Given the description of an element on the screen output the (x, y) to click on. 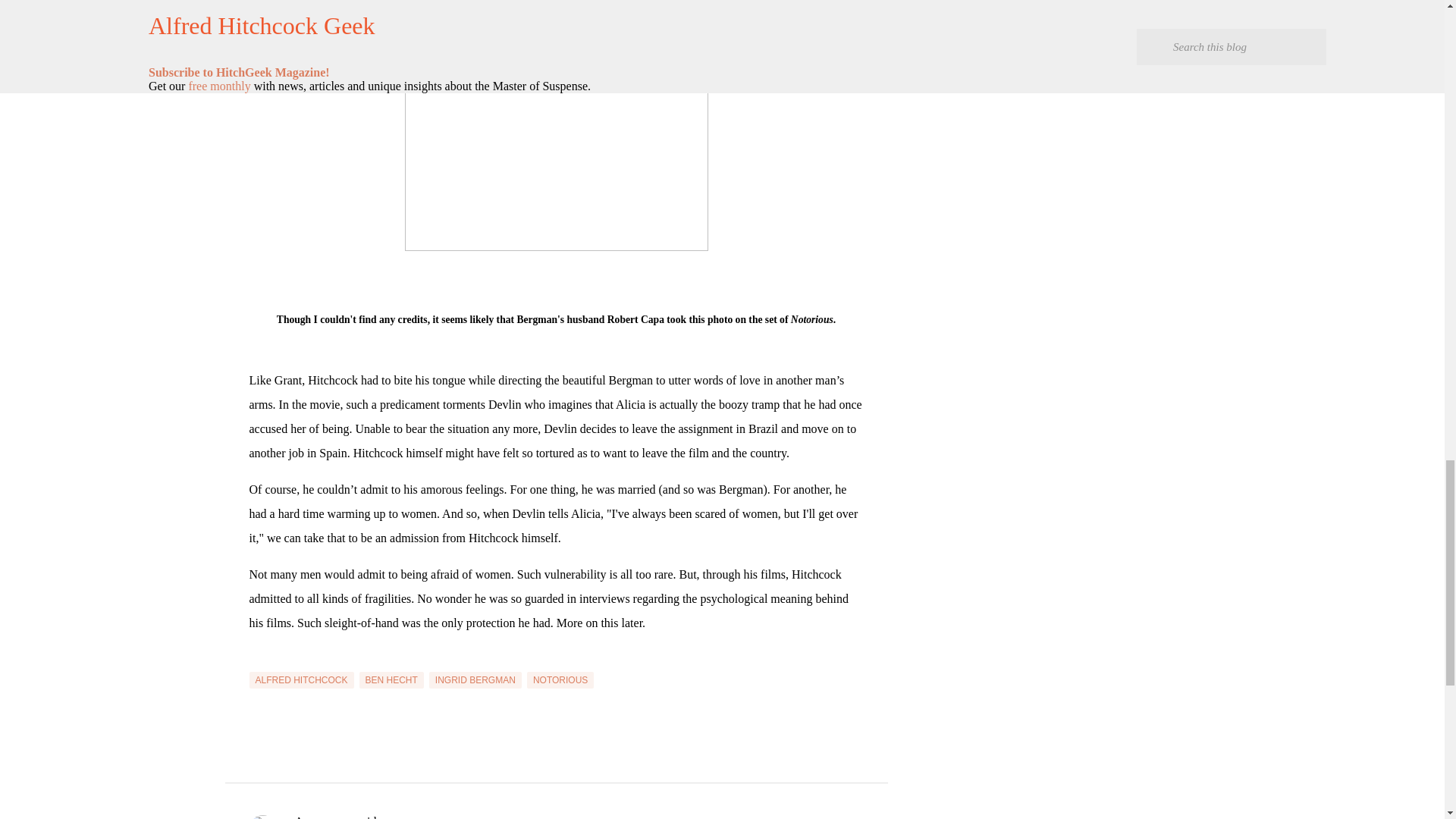
Email Post (257, 662)
ALFRED HITCHCOCK (300, 679)
INGRID BERGMAN (475, 679)
BEN HECHT (391, 679)
NOTORIOUS (560, 679)
